Given the description of an element on the screen output the (x, y) to click on. 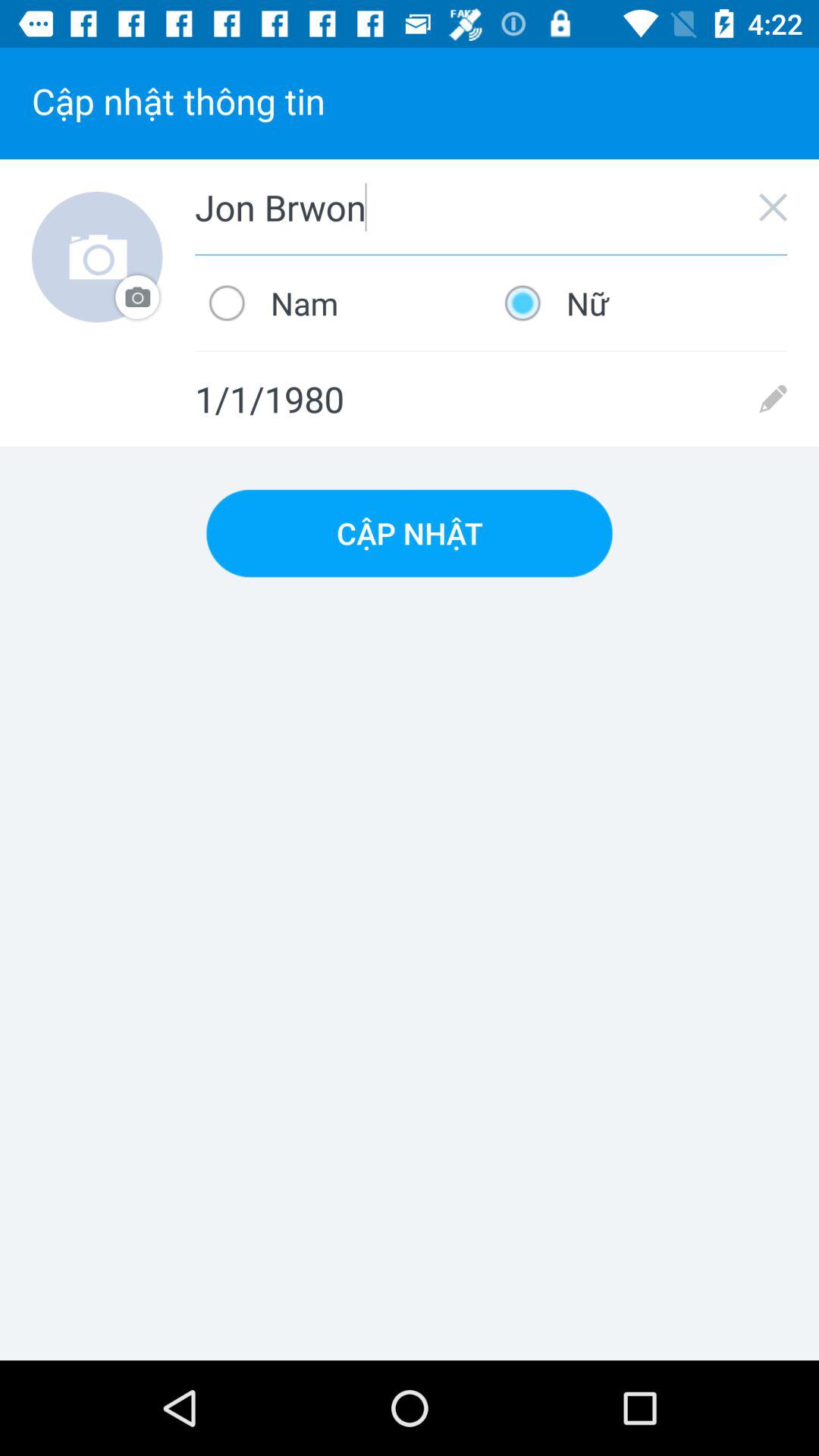
tap the icon below jon brwon item (342, 302)
